Given the description of an element on the screen output the (x, y) to click on. 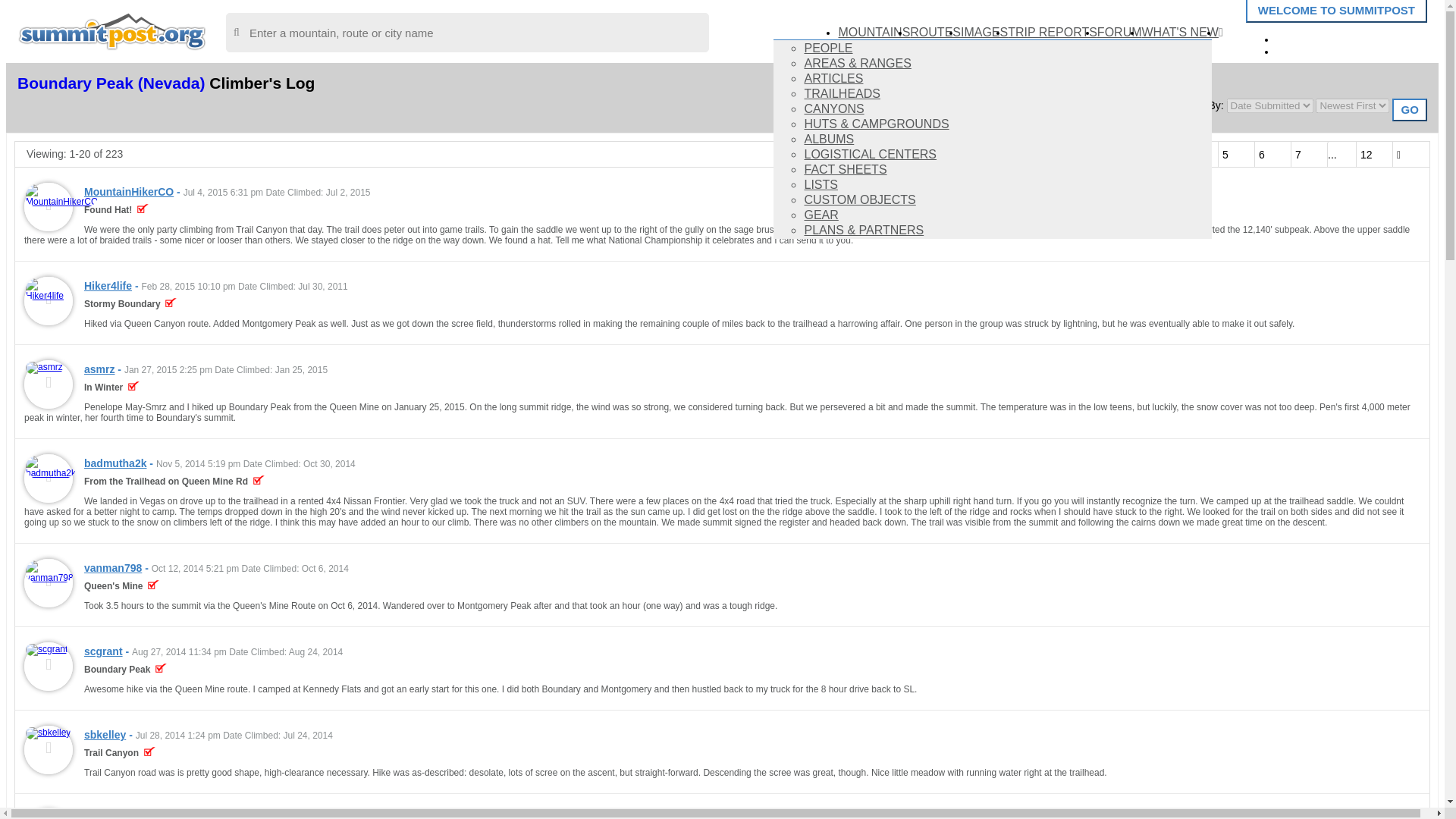
REGISTER (1318, 50)
7 (1308, 154)
Success! (153, 585)
Success! (142, 209)
SIGN IN (1310, 38)
FACT SHEETS (844, 169)
4 (1200, 154)
ALBUMS (828, 138)
SummitPost.org (111, 30)
 Go  (1408, 109)
GEAR (820, 214)
 Go  (1408, 109)
12 (1374, 154)
IMAGES (983, 31)
Success! (170, 303)
